Given the description of an element on the screen output the (x, y) to click on. 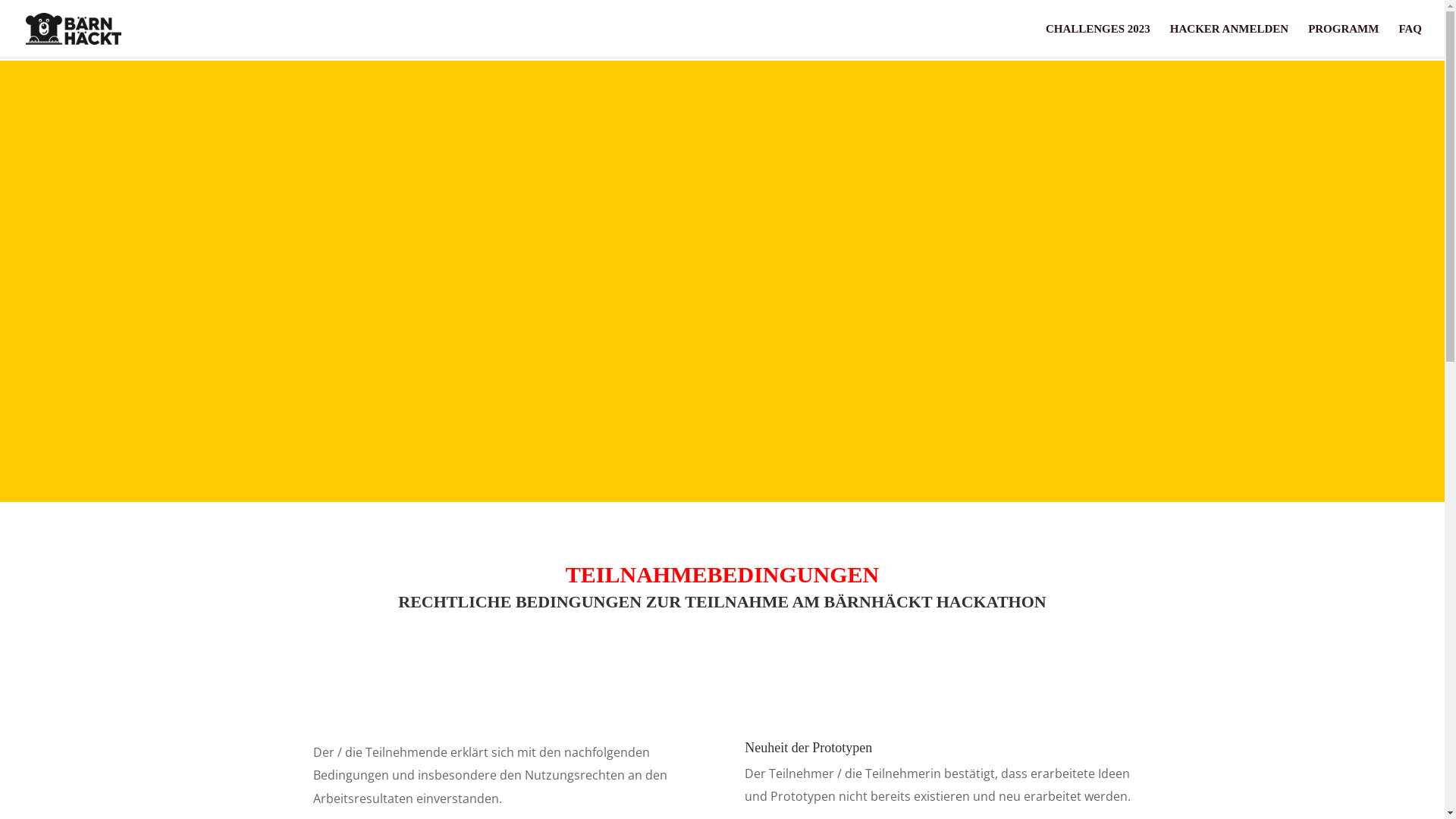
CHALLENGES 2023 Element type: text (1097, 40)
FAQ Element type: text (1409, 40)
PROGRAMM Element type: text (1343, 40)
HACKER ANMELDEN Element type: text (1229, 40)
